Given the description of an element on the screen output the (x, y) to click on. 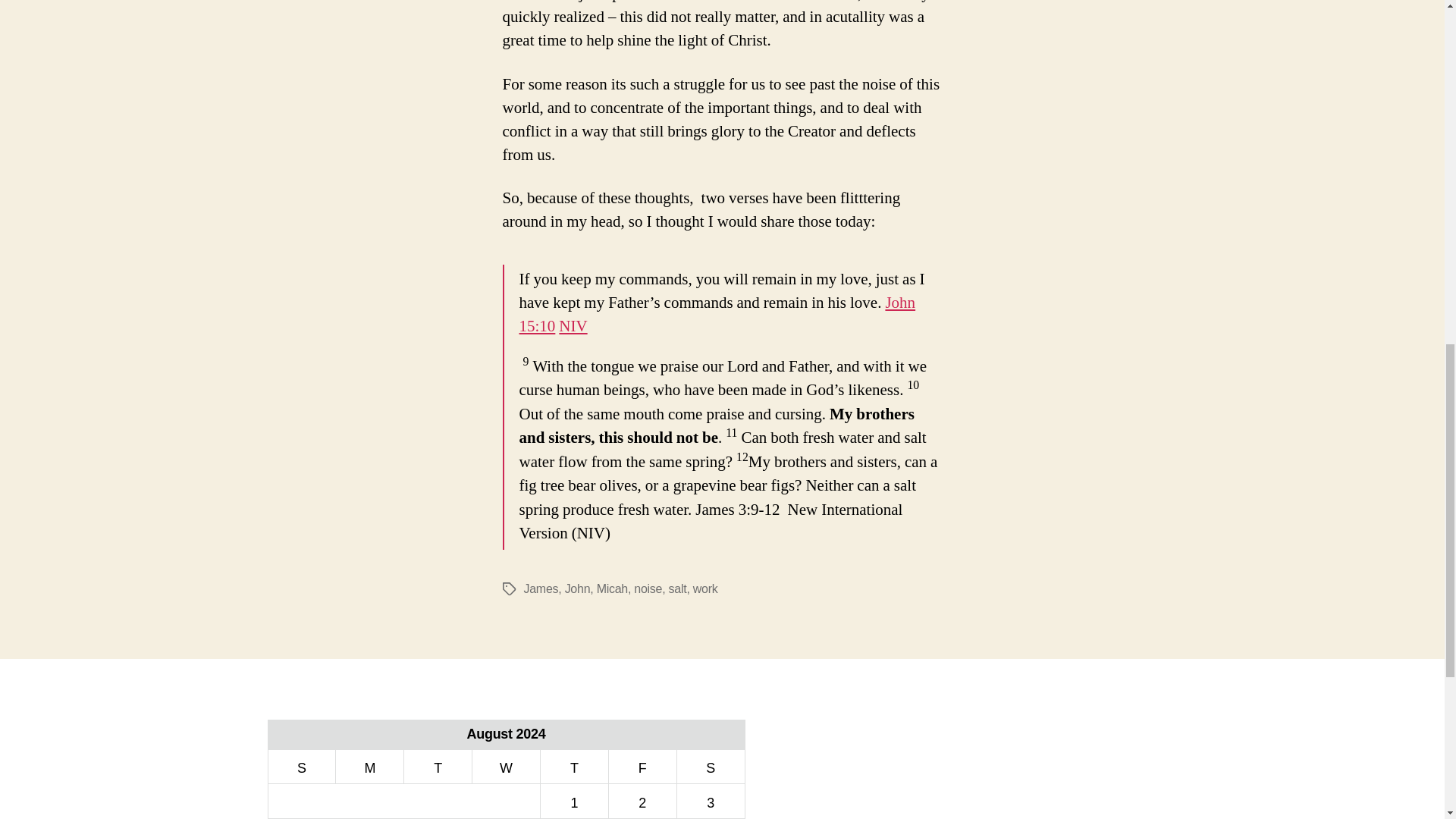
Sunday (301, 766)
Micah (611, 588)
James (539, 588)
John (577, 588)
John 15:10 (716, 314)
work (705, 588)
noise (647, 588)
John 15:10 (716, 314)
Wednesday (505, 766)
Tuesday (437, 766)
